Given the description of an element on the screen output the (x, y) to click on. 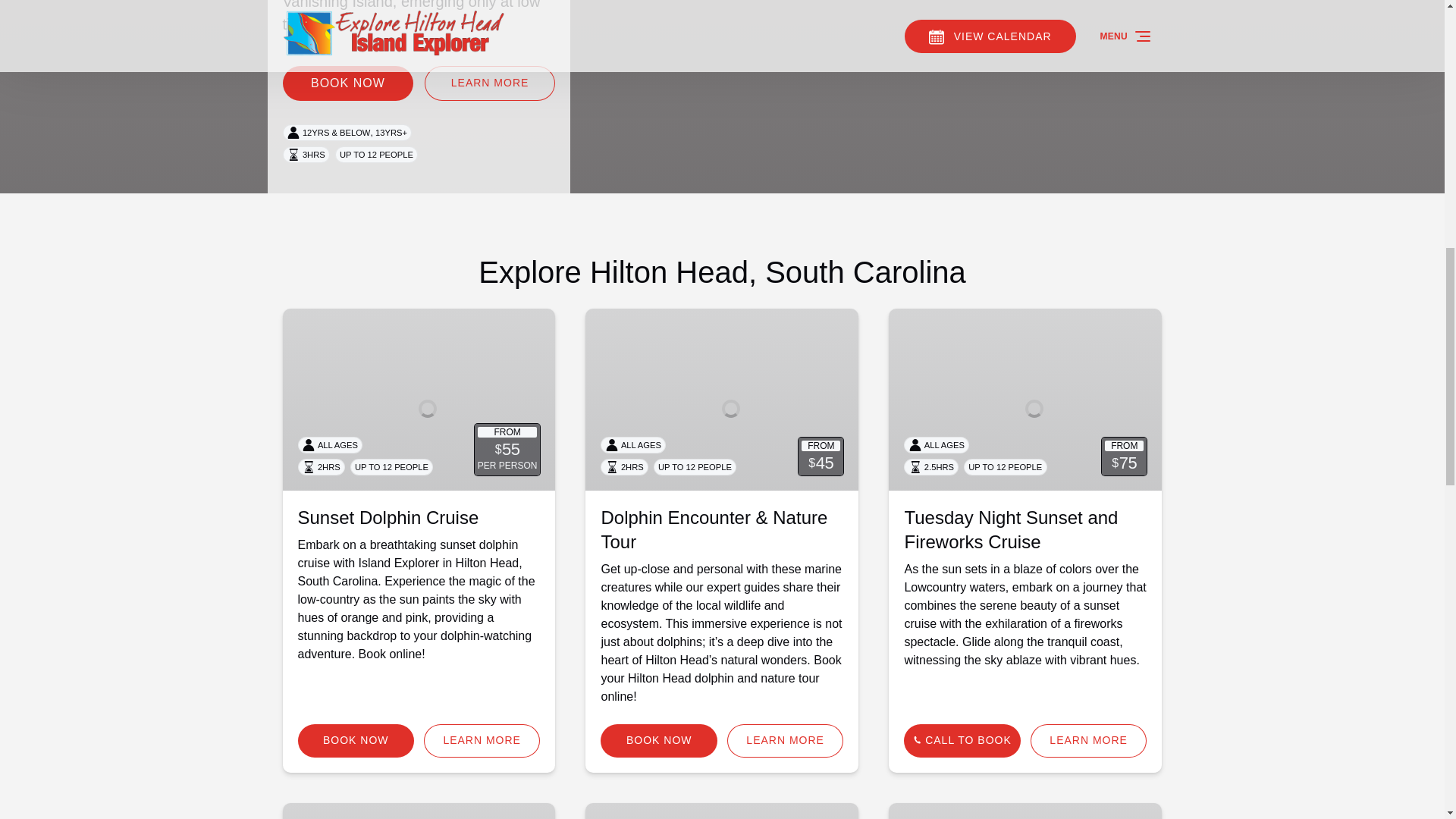
FareHarbor (1342, 64)
BOOK NOW (658, 740)
LEARN MORE (785, 740)
Sunset Dolphin Cruise (388, 516)
BOOK NOW (347, 83)
Tuesday Night Sunset and Fireworks Cruise (1011, 529)
LEARN MORE (481, 740)
LEARN MORE (1088, 740)
CALL TO BOOK (962, 740)
BOOK NOW (355, 740)
